Given the description of an element on the screen output the (x, y) to click on. 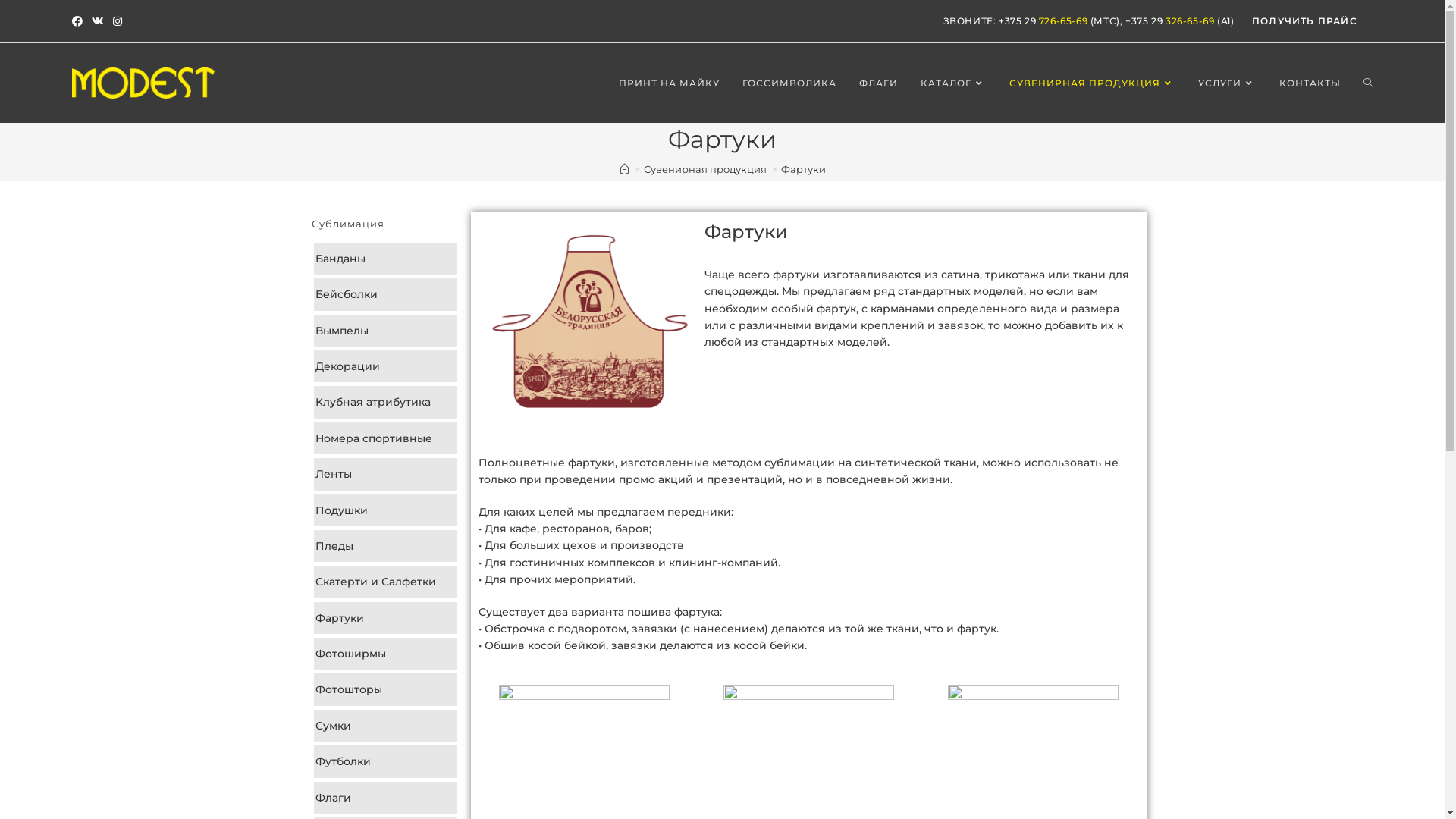
326-65-69 Element type: text (1191, 20)
726-65-69 Element type: text (1062, 20)
